Given the description of an element on the screen output the (x, y) to click on. 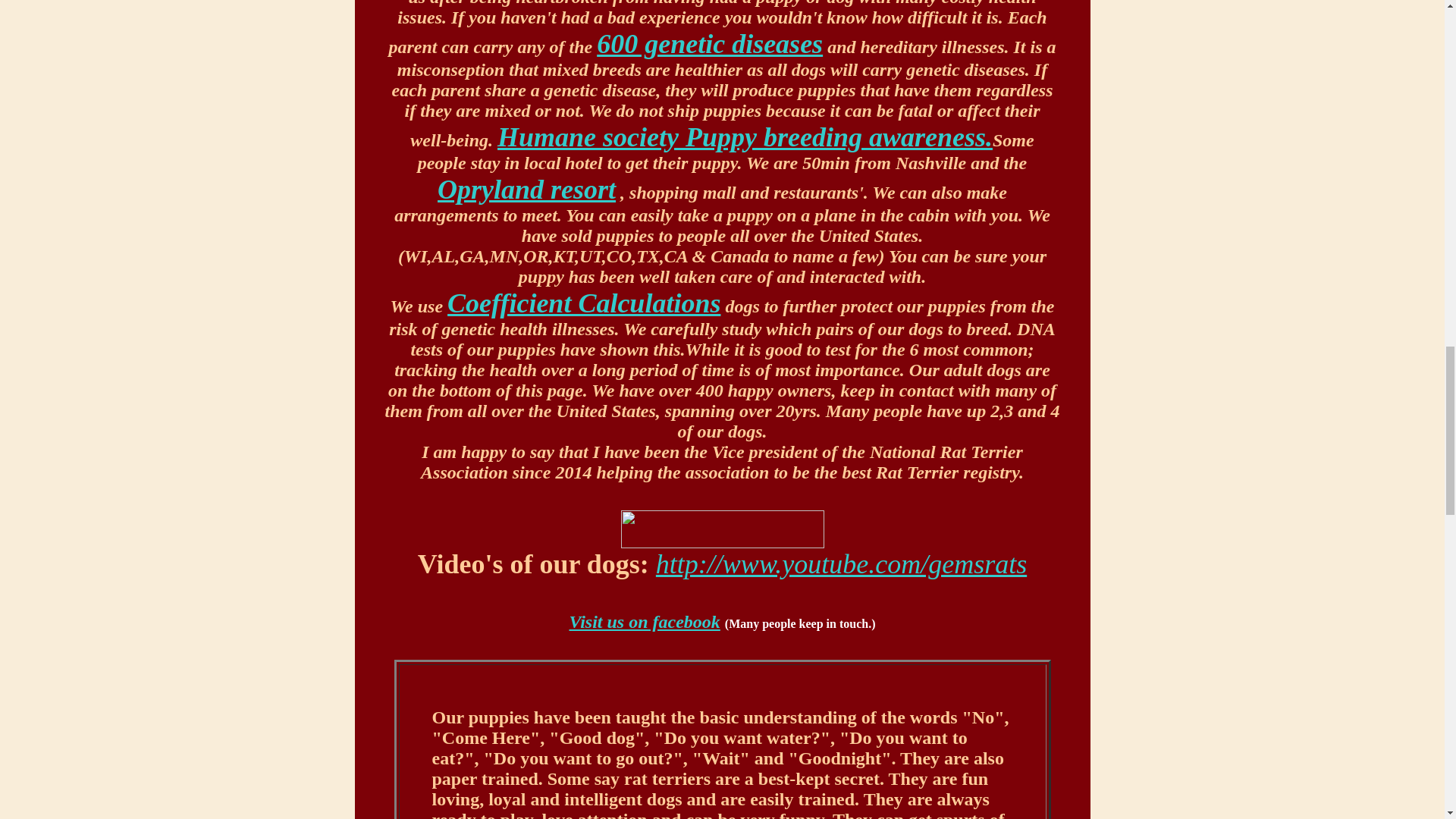
Humane society Puppy breeding awareness. (744, 137)
Coefficient Calculations (583, 303)
Gems Rat Terriers (841, 579)
Visit us on facebook (644, 621)
Opryland resort (526, 189)
600 genetic diseases (709, 43)
